Given the description of an element on the screen output the (x, y) to click on. 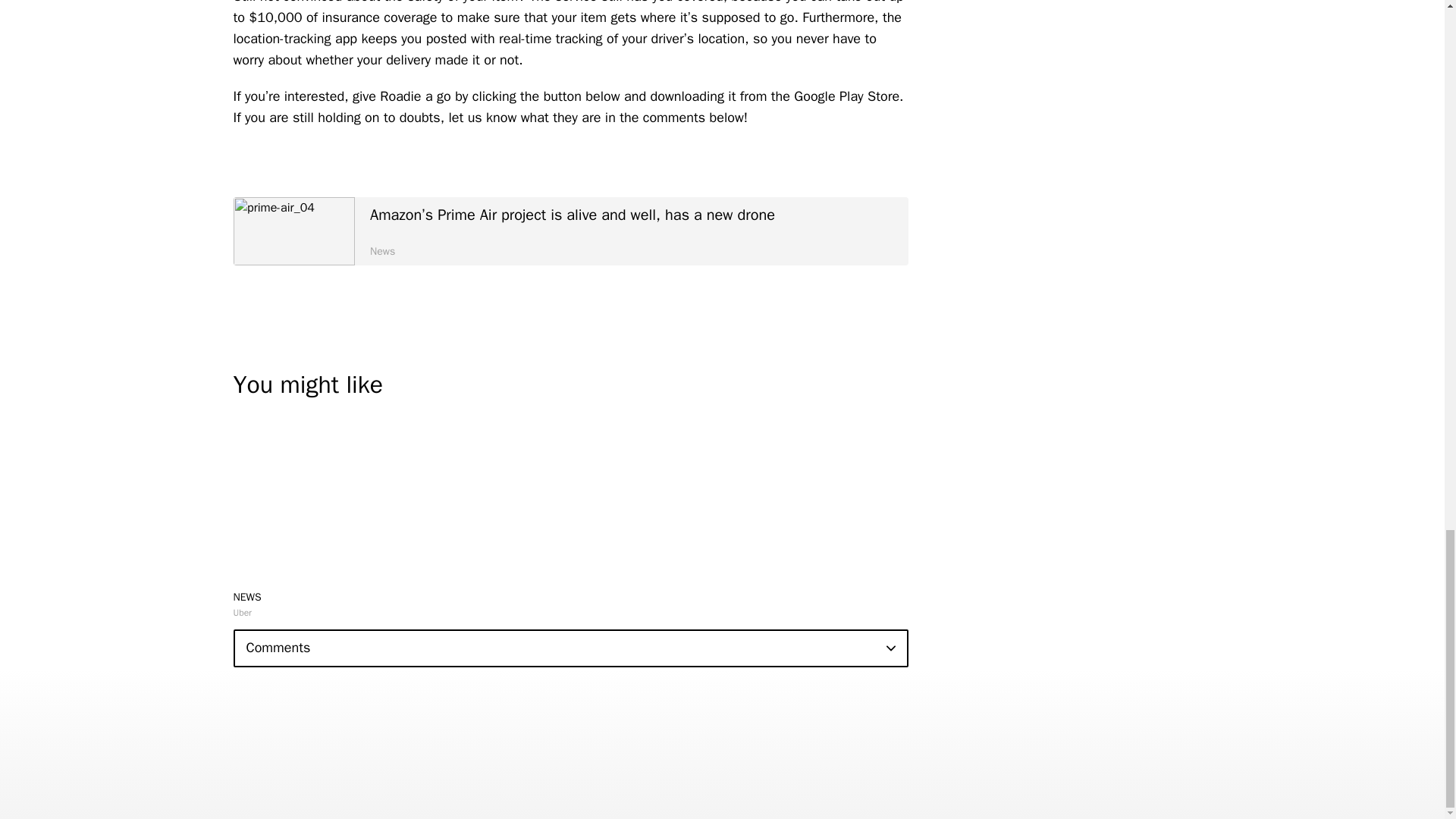
Uber (241, 612)
NEWS (247, 596)
Comments (570, 648)
